Given the description of an element on the screen output the (x, y) to click on. 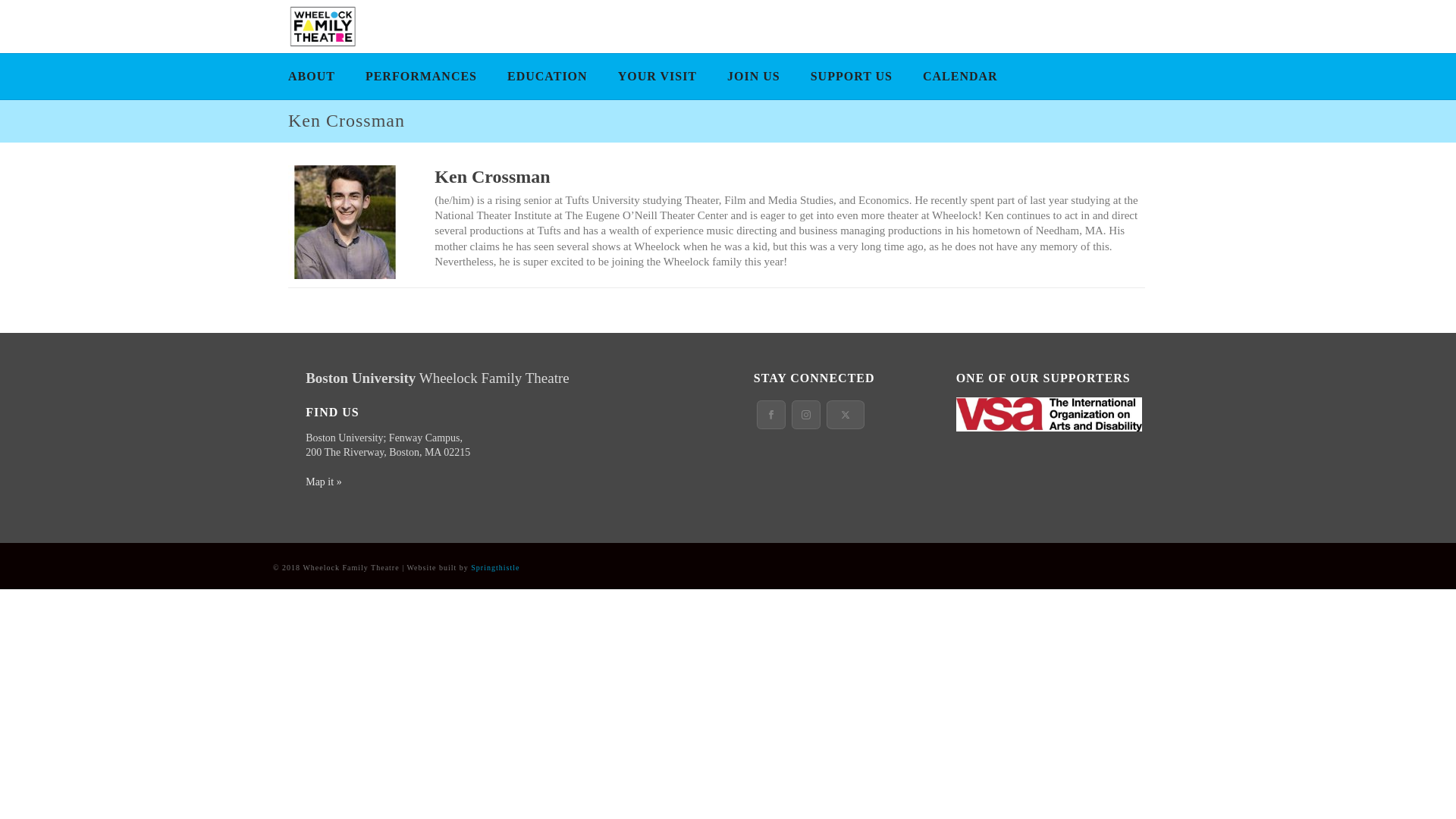
EDUCATION (547, 76)
headshot-kenneth-crossman (344, 222)
Follow Us on twitter (845, 414)
Follow Us on instagram (806, 414)
Professional, Accessible Theatre in the Heart of Boston (321, 26)
ABOUT (312, 76)
Wheelock Family Theatre (321, 26)
YOUR VISIT (657, 76)
PERFORMANCES (421, 76)
JOIN US (753, 76)
